Given the description of an element on the screen output the (x, y) to click on. 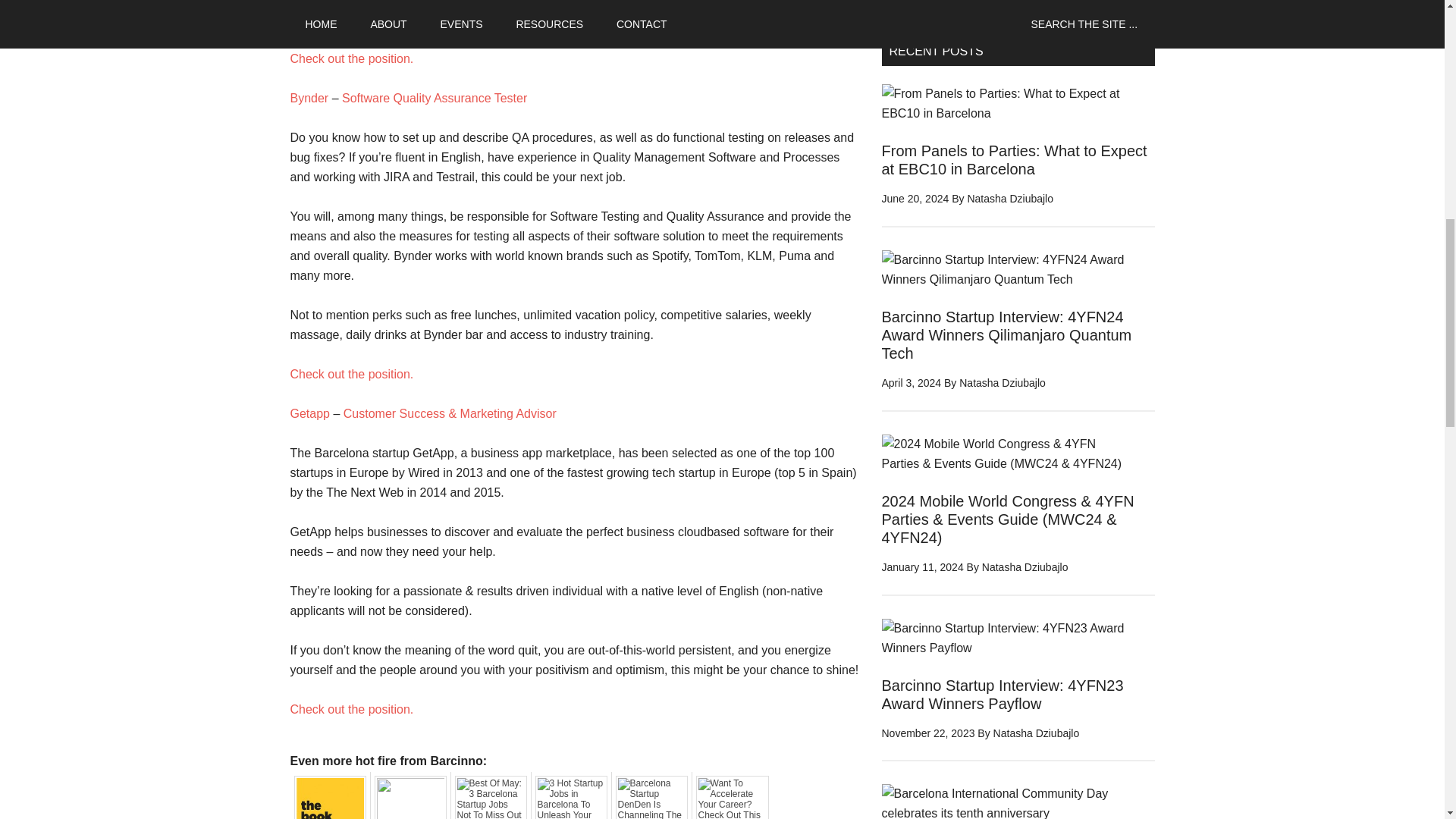
Software Quality Assurance Tester (434, 97)
Bynder (309, 97)
Check out the position. (351, 58)
Check out the position. (351, 708)
Check out the position. (351, 373)
Getapp (309, 413)
